Given the description of an element on the screen output the (x, y) to click on. 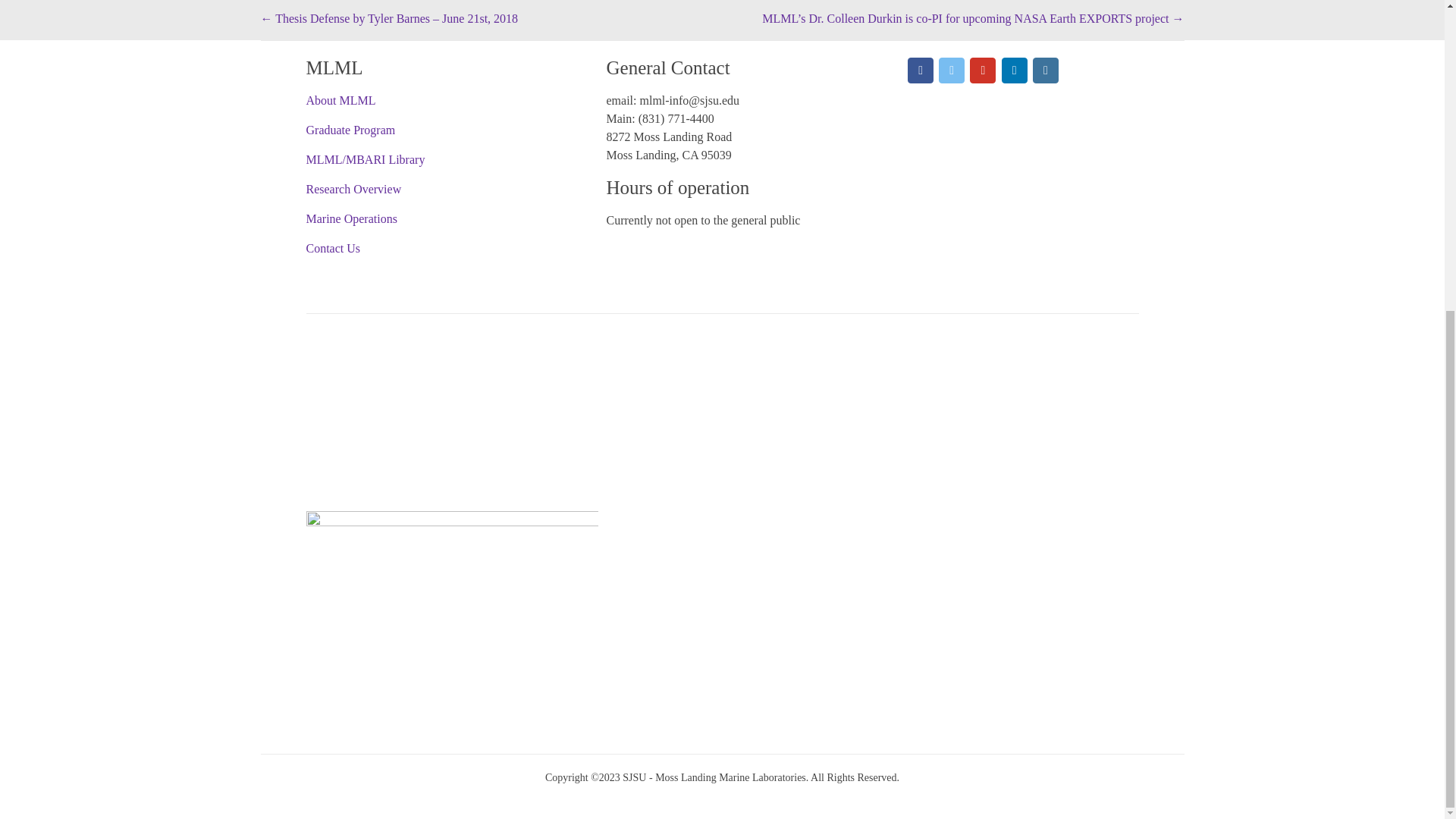
Moss Landing Marine Laboratories on Instagram (1045, 70)
Moss Landing Marine Laboratories on Facebook (920, 70)
Moss Landing Marine Laboratories on Linkedin (1014, 70)
Moss Landing Marine Laboratories on Youtube (982, 70)
Moss Landing Marine Laboratories on X Twitter (951, 70)
San Jose State University: MLML's Administrative Campus (451, 539)
